Given the description of an element on the screen output the (x, y) to click on. 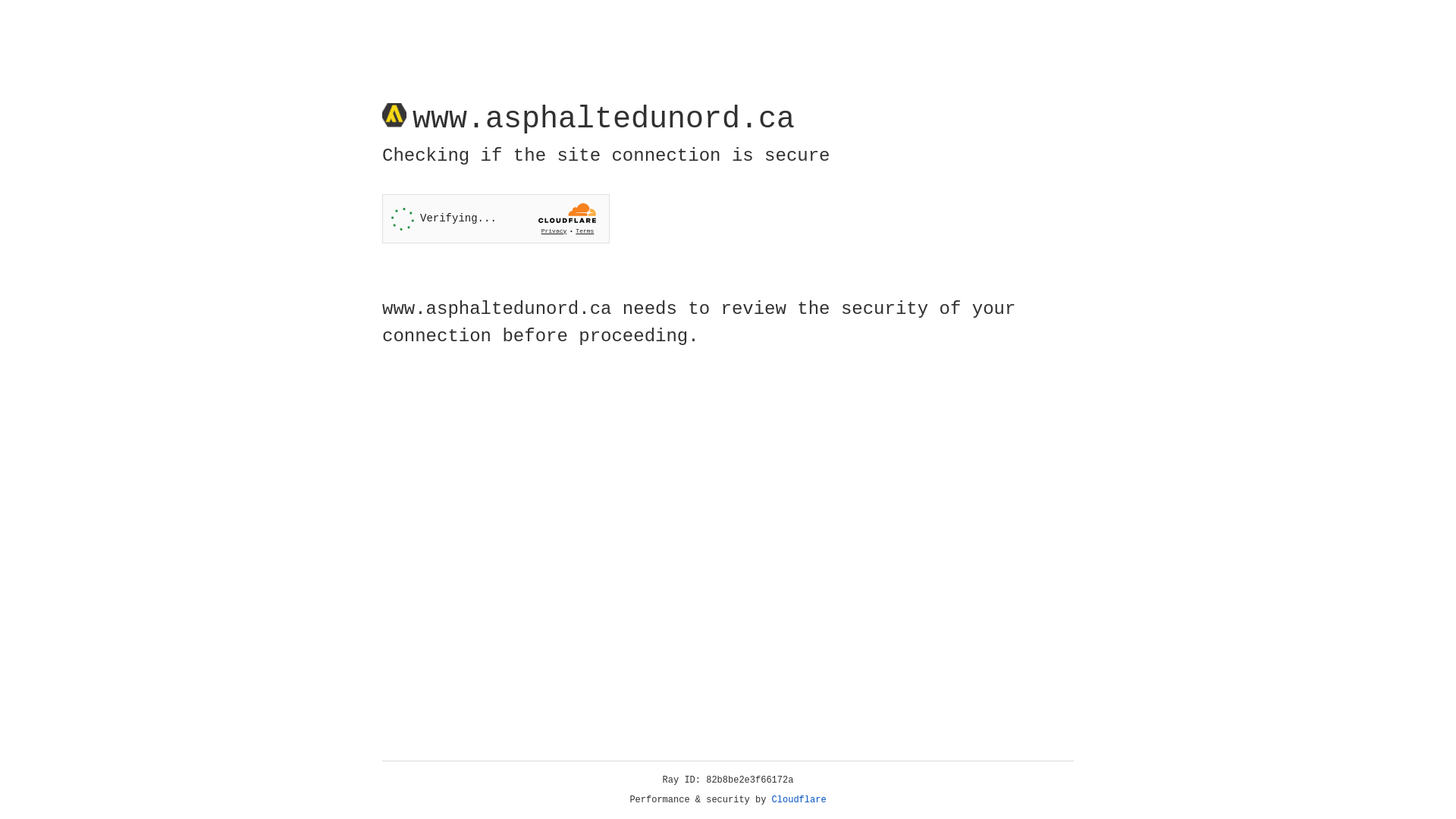
Widget containing a Cloudflare security challenge Element type: hover (495, 218)
Cloudflare Element type: text (798, 799)
